Given the description of an element on the screen output the (x, y) to click on. 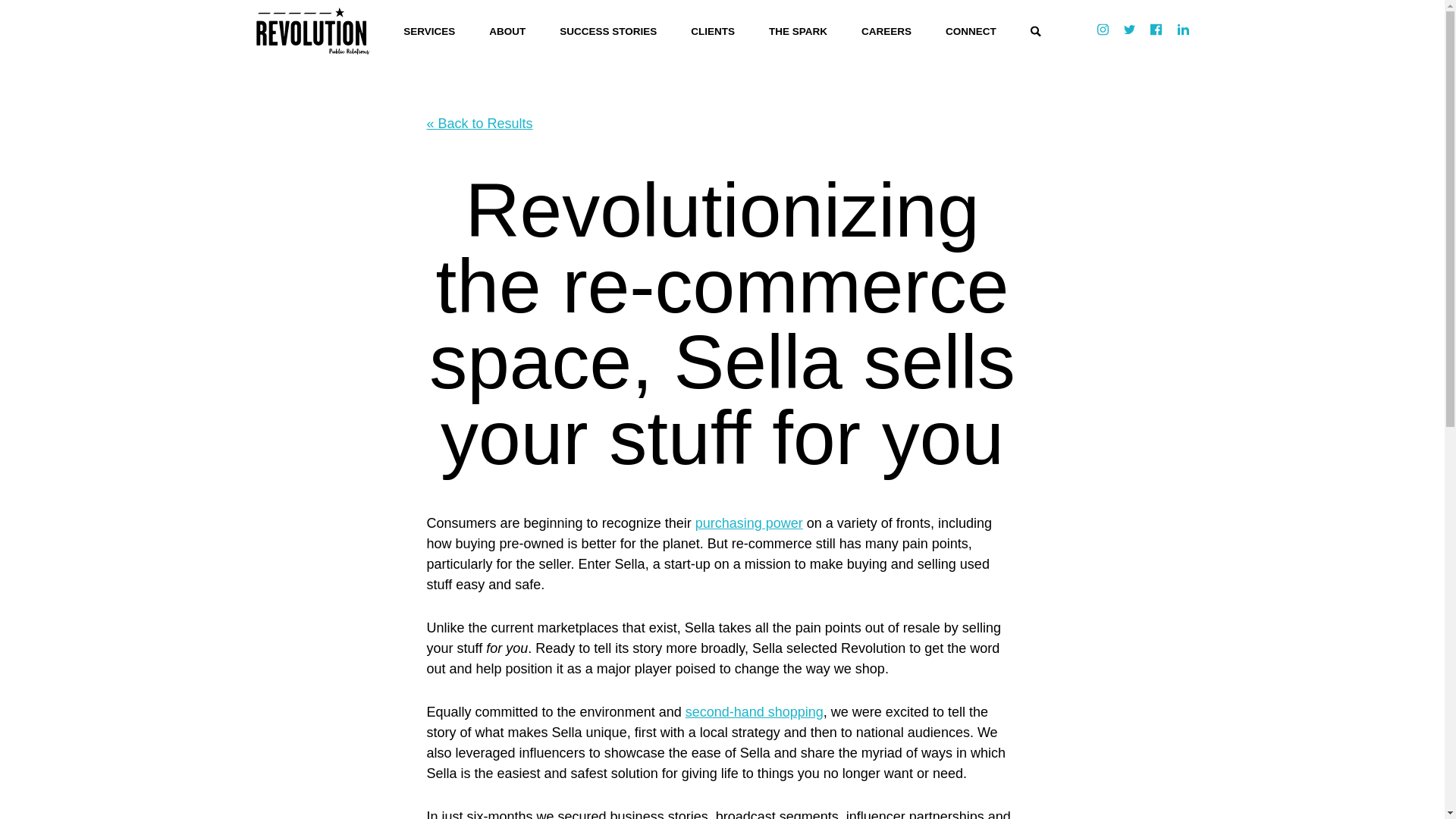
CLIENTS (712, 31)
ABOUT (507, 31)
purchasing power (749, 522)
CONNECT (969, 31)
SUCCESS STORIES (607, 31)
CAREERS (886, 31)
SERVICES (428, 31)
THE SPARK (797, 31)
second-hand shopping (754, 711)
